Given the description of an element on the screen output the (x, y) to click on. 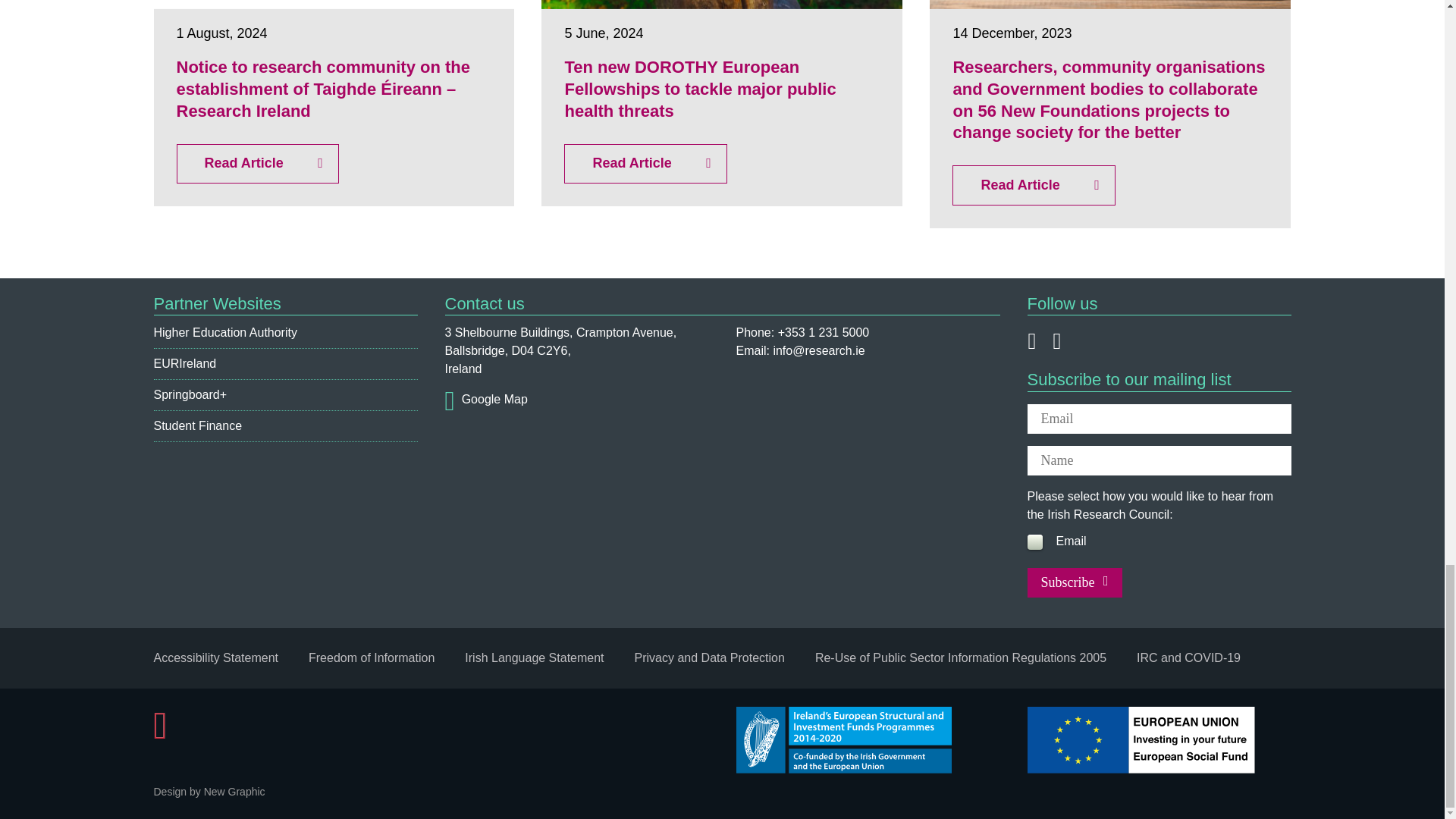
Irish Research Council (429, 725)
Read Article (645, 163)
Read Article (1033, 184)
Read Article (256, 163)
